Given the description of an element on the screen output the (x, y) to click on. 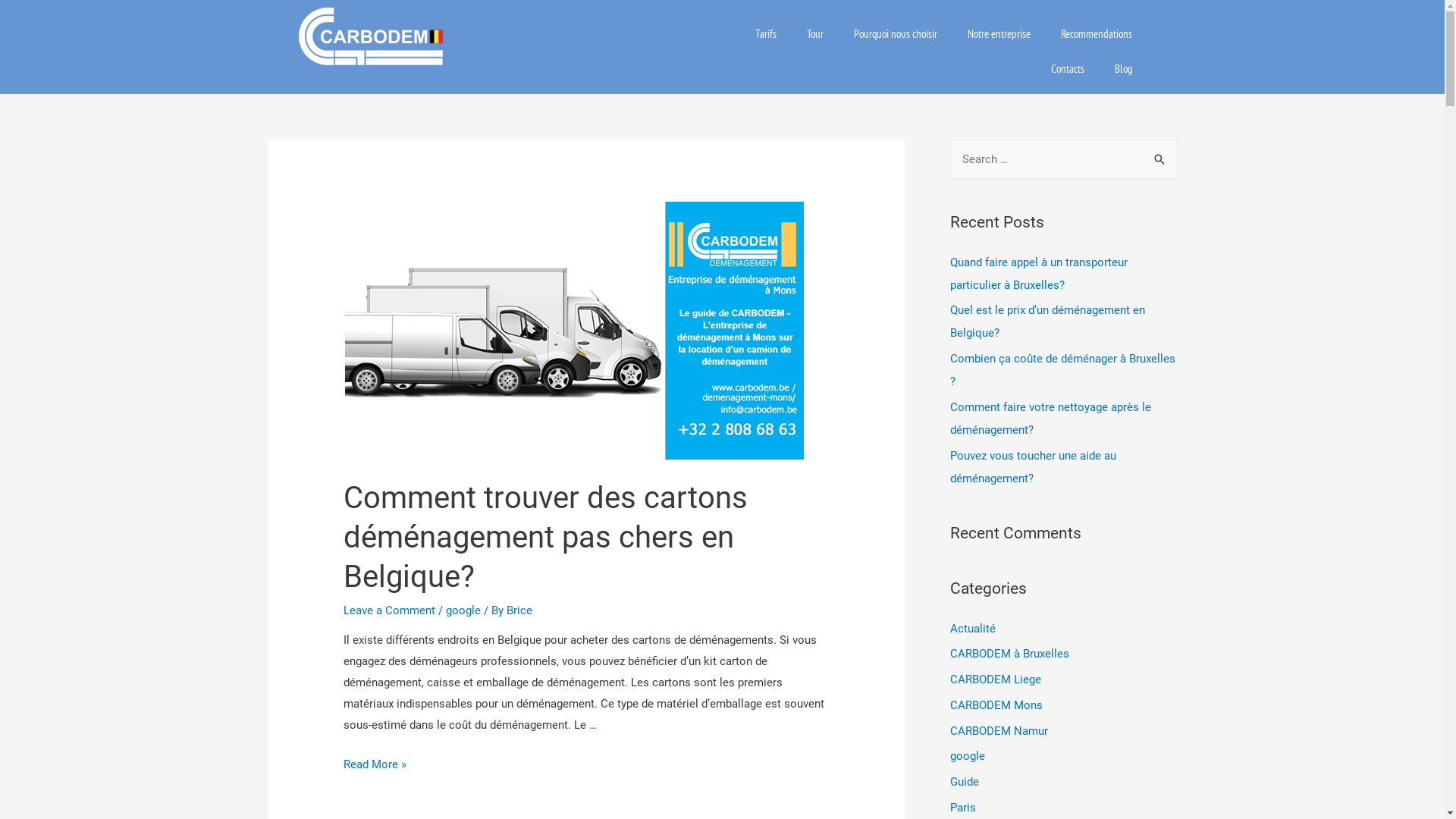
Notre entreprise Element type: text (998, 33)
CARBODEM Liege Element type: text (994, 679)
Brice Element type: text (519, 610)
google Element type: text (462, 610)
Guide Element type: text (963, 781)
CARBODEM Mons Element type: text (995, 705)
Leave a Comment Element type: text (389, 610)
Recommendations Element type: text (1095, 33)
Pourquoi nous choisir Element type: text (895, 33)
CARBODEM Namur Element type: text (998, 730)
Blog Element type: text (1123, 68)
Contacts Element type: text (1067, 68)
Search Element type: text (1160, 159)
Paris Element type: text (962, 807)
google Element type: text (966, 755)
Tour Element type: text (814, 33)
Tarifs Element type: text (765, 33)
